Given the description of an element on the screen output the (x, y) to click on. 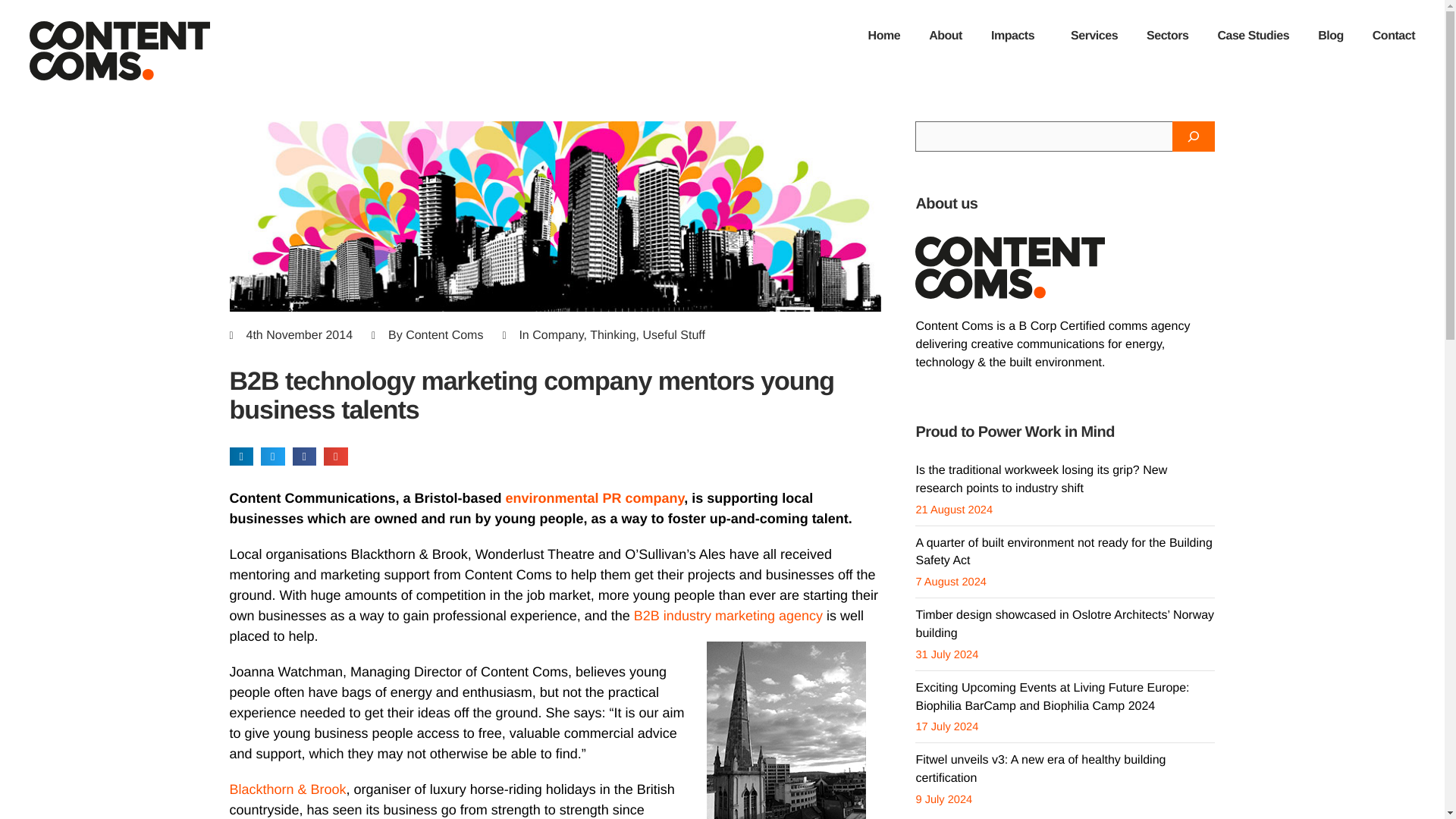
Services (1094, 36)
About (945, 36)
Impacts (1016, 36)
Sectors (1167, 36)
B2B industry marketing agency (727, 615)
environmental PR company (594, 498)
B2B technology marketing company  (786, 730)
Case Studies (1252, 36)
Home (884, 36)
environmental PR (594, 498)
